Given the description of an element on the screen output the (x, y) to click on. 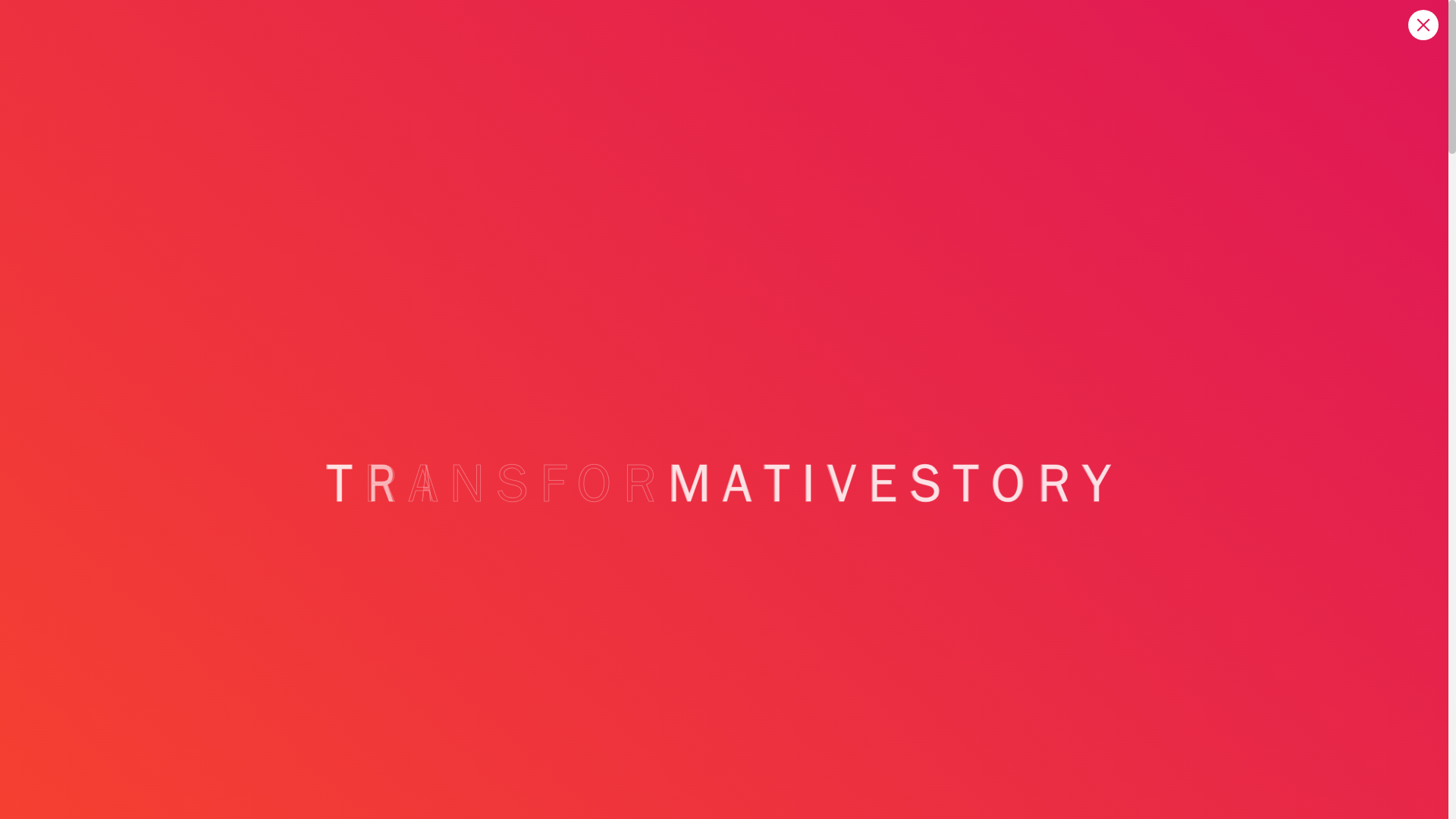
Contact Team (1104, 50)
Company Story (1003, 50)
Medical Dispensaries Near Me And CBD Dispensaries Near Me (1060, 642)
Search (1149, 477)
What Are Online Games? (999, 798)
Company Story (1003, 50)
Search (1149, 477)
Contact Team (1104, 50)
Choosing an Online Dispensary Vancouver (747, 230)
Blog (613, 436)
